Given the description of an element on the screen output the (x, y) to click on. 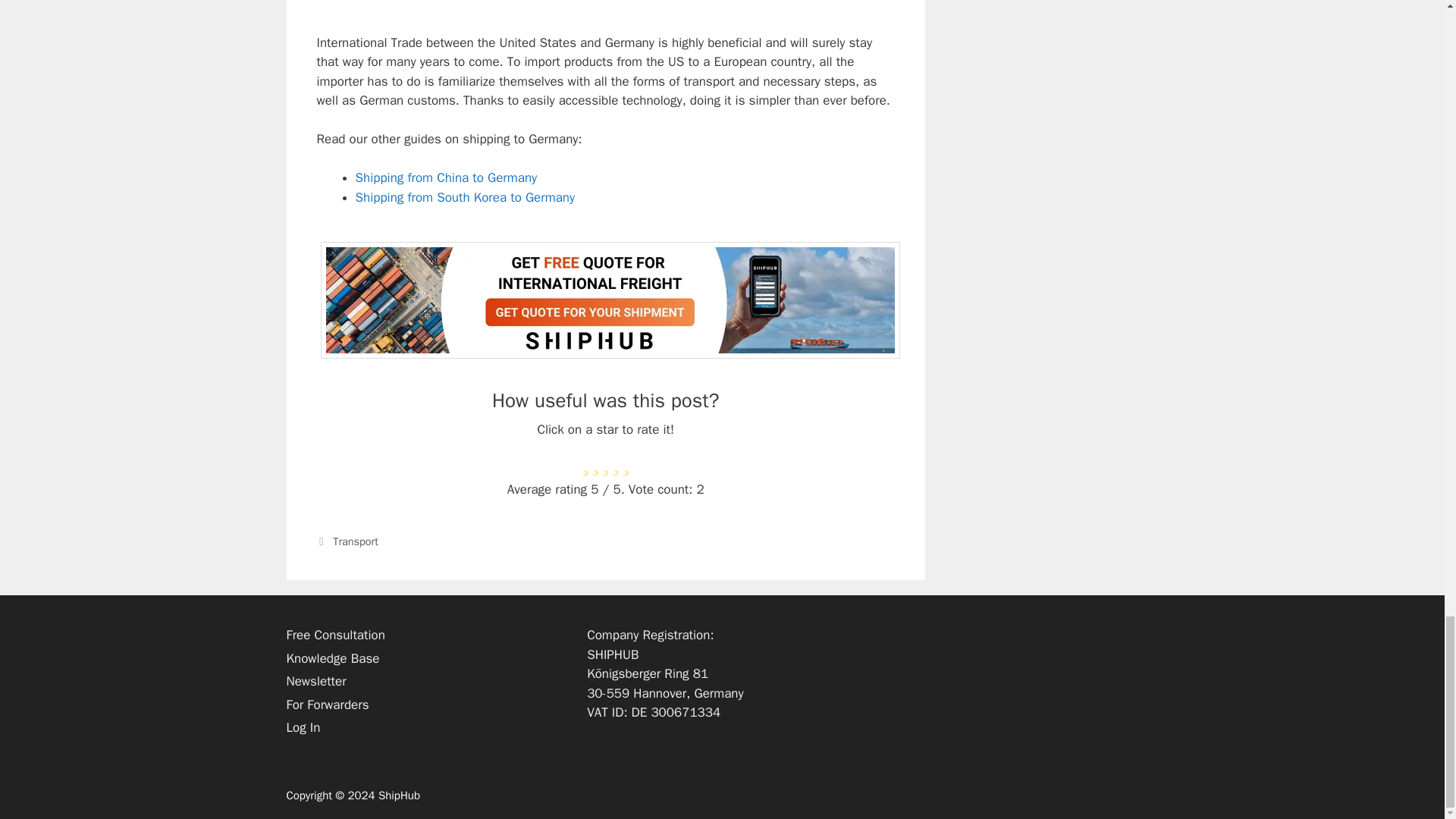
Shipping from South Korea to Germany (465, 197)
Shipping from China to Germany (446, 177)
Transport (355, 540)
